Given the description of an element on the screen output the (x, y) to click on. 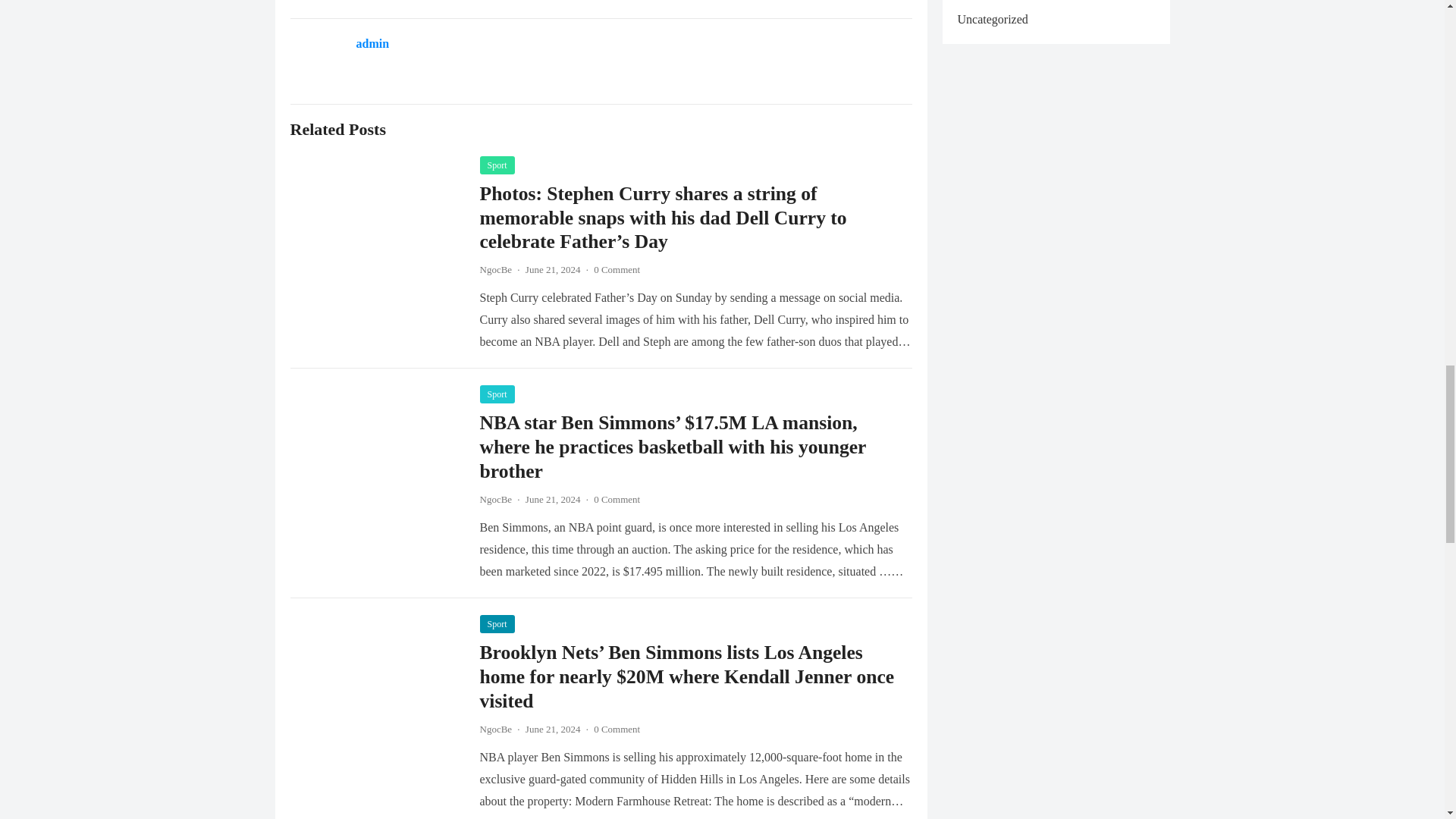
0 Comment (617, 499)
admin (373, 42)
Sport (496, 624)
Sport (496, 165)
Posts by NgocBe (495, 499)
NgocBe (495, 499)
0 Comment (617, 728)
Sport (496, 393)
0 Comment (617, 269)
Posts by NgocBe (495, 269)
